Given the description of an element on the screen output the (x, y) to click on. 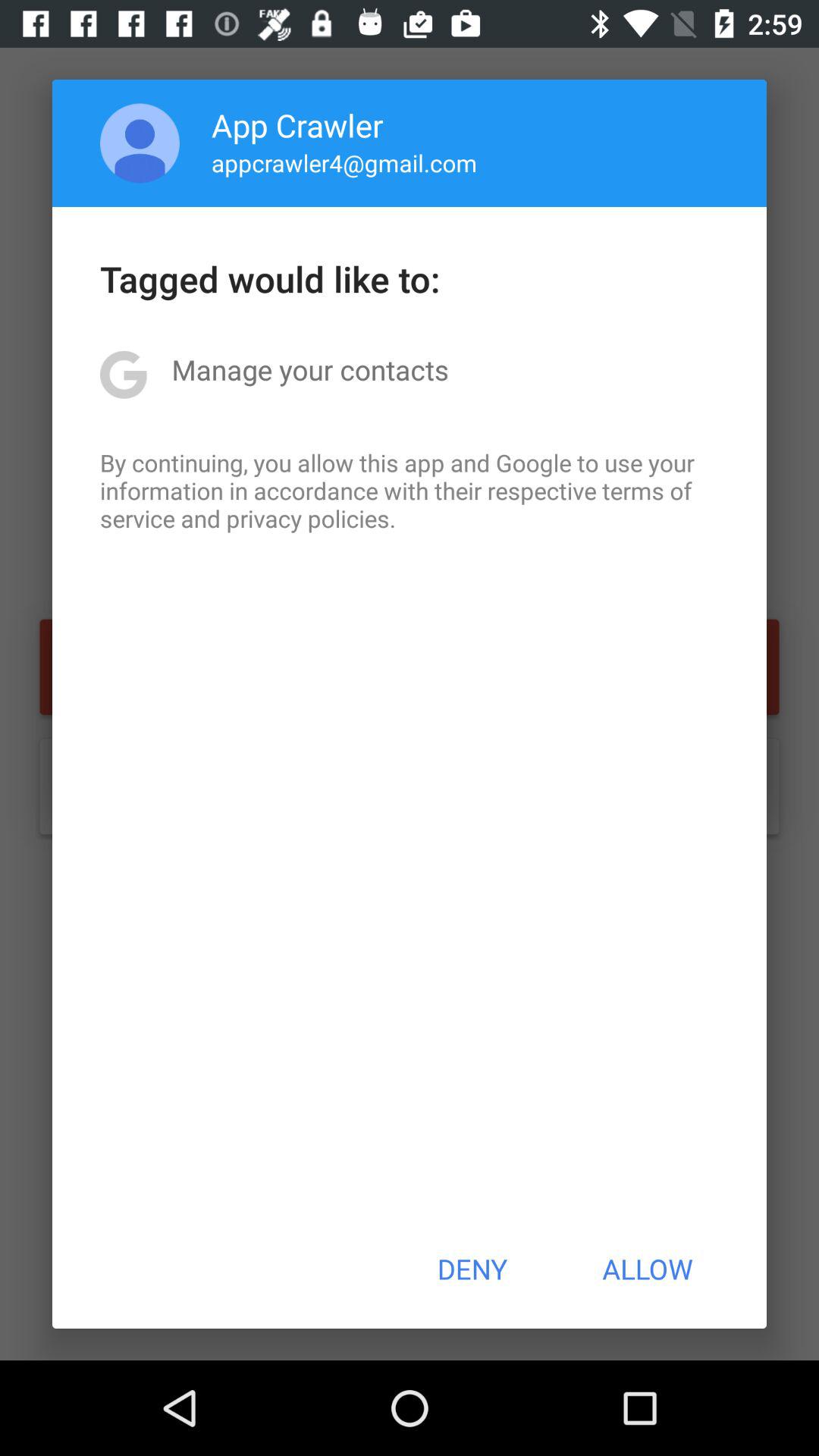
tap item above the tagged would like app (139, 143)
